Given the description of an element on the screen output the (x, y) to click on. 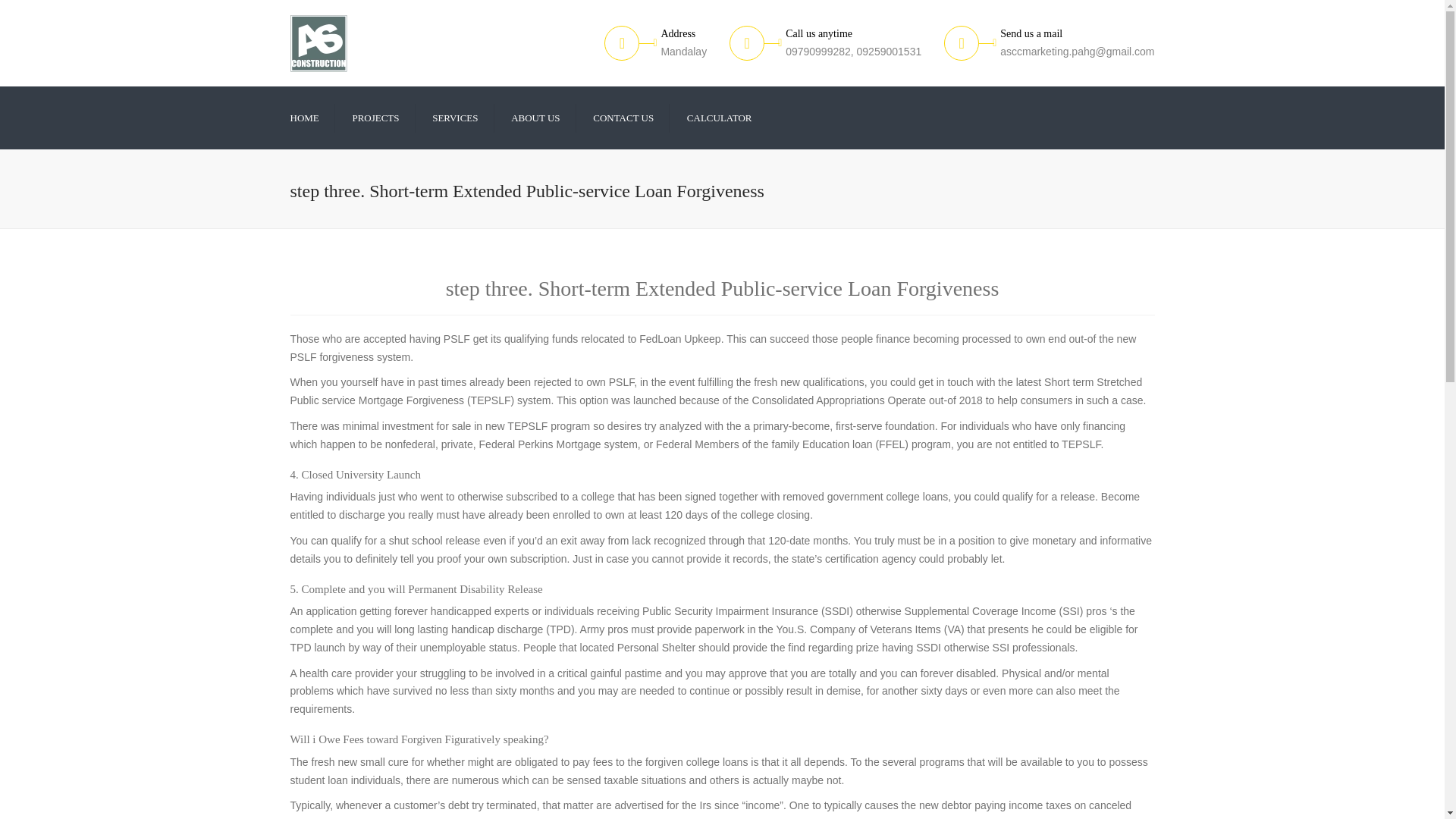
CONTACT US (623, 117)
ABOUT US (535, 117)
PROJECTS (374, 117)
SERVICES (454, 117)
CALCULATOR (719, 117)
Post Comment (41, 11)
